Given the description of an element on the screen output the (x, y) to click on. 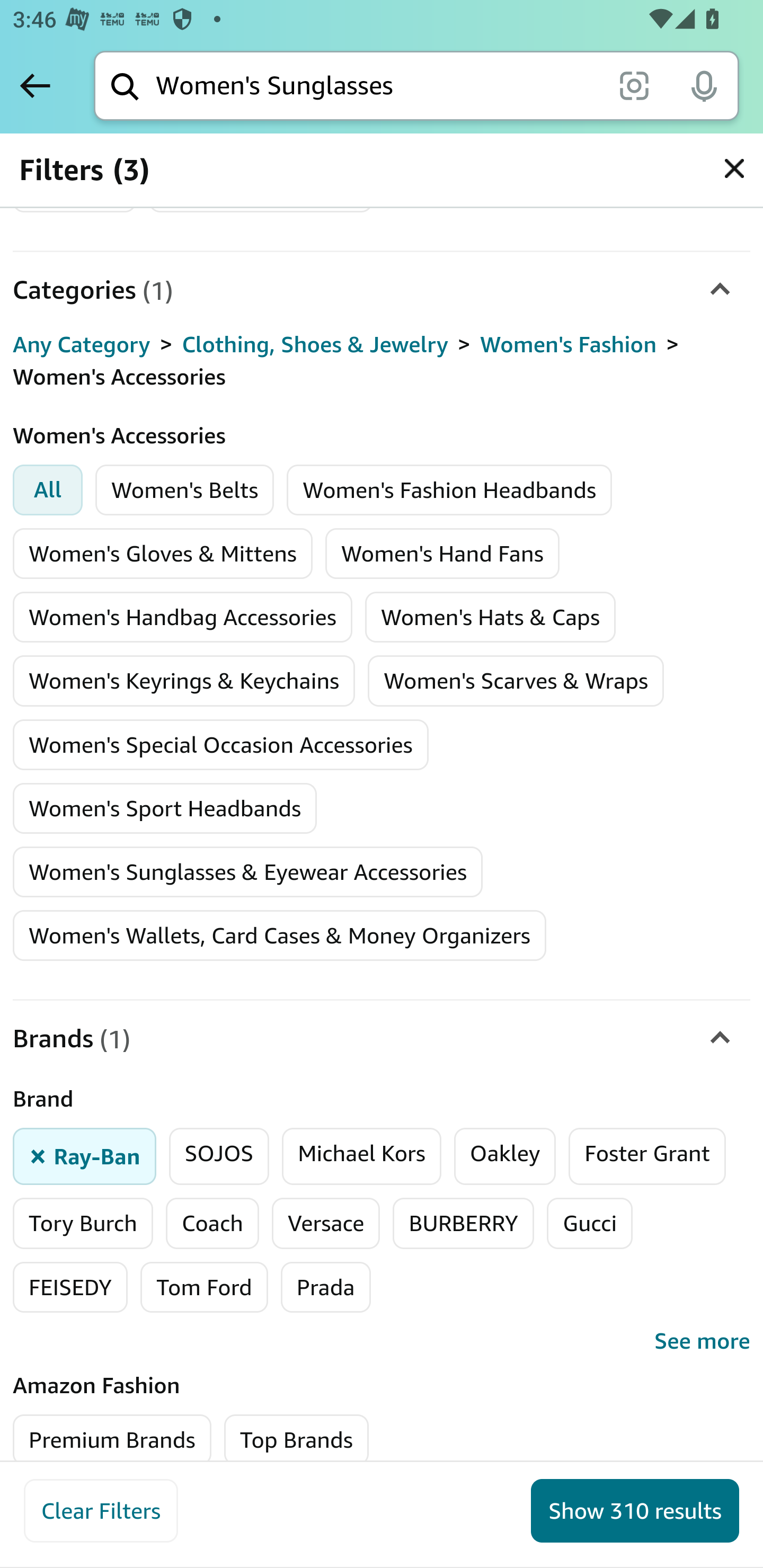
Back (35, 85)
scan it (633, 85)
Categories (1) (381, 289)
Any Category (81, 343)
Clothing, Shoes & Jewelry (314, 343)
Women's Fashion (567, 343)
Women's Belts (184, 489)
Women's Fashion Headbands (449, 489)
Women's Gloves & Mittens (162, 553)
Women's Hand Fans (441, 553)
Women's Handbag Accessories (182, 616)
Women's Hats & Caps (489, 616)
Women's Keyrings & Keychains (184, 681)
Women's Scarves & Wraps (515, 681)
Women's Special Occasion Accessories (220, 744)
Women's Sport Headbands (165, 808)
Women's Sunglasses & Eyewear Accessories (247, 871)
